Given the description of an element on the screen output the (x, y) to click on. 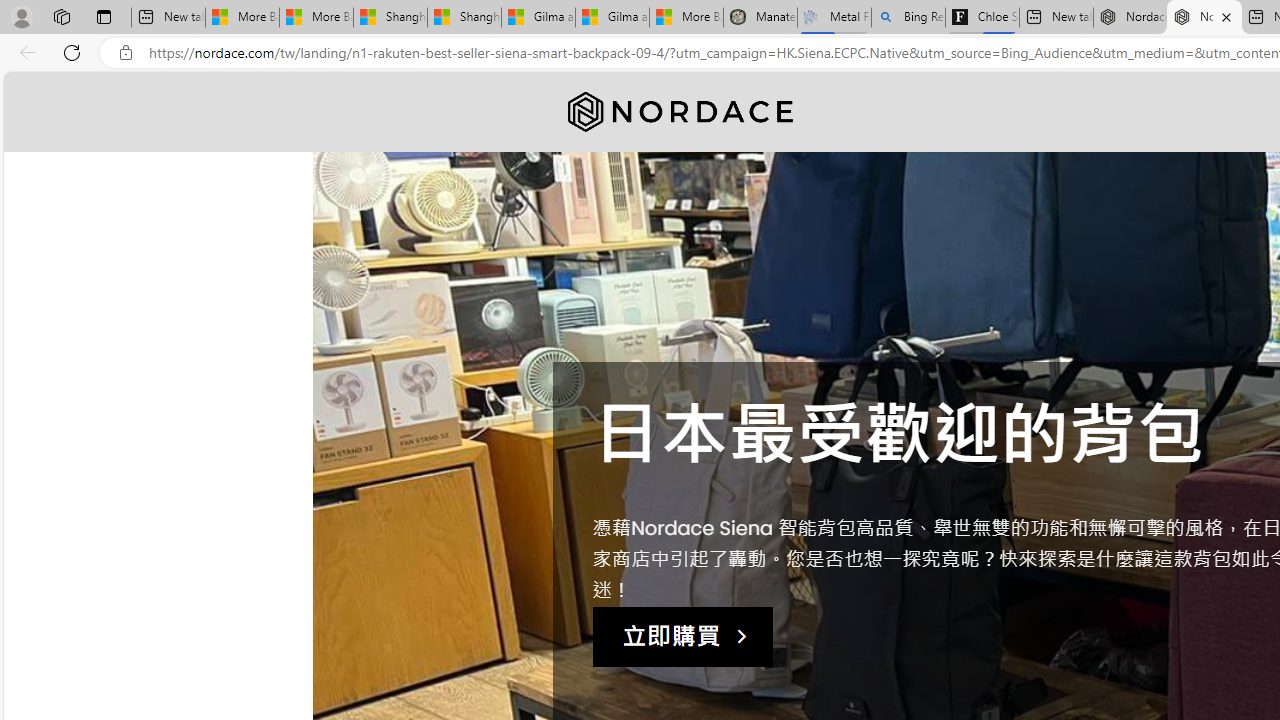
Nordace (680, 111)
Close tab (1226, 16)
Chloe Sorvino (981, 17)
Workspaces (61, 16)
Refresh (72, 52)
Nordace - #1 Japanese Best-Seller - Siena Smart Backpack (1204, 17)
Tab actions menu (104, 16)
Manatee Mortality Statistics | FWC (760, 17)
New tab (1056, 17)
Back (24, 52)
View site information (125, 53)
Personal Profile (21, 16)
